Given the description of an element on the screen output the (x, y) to click on. 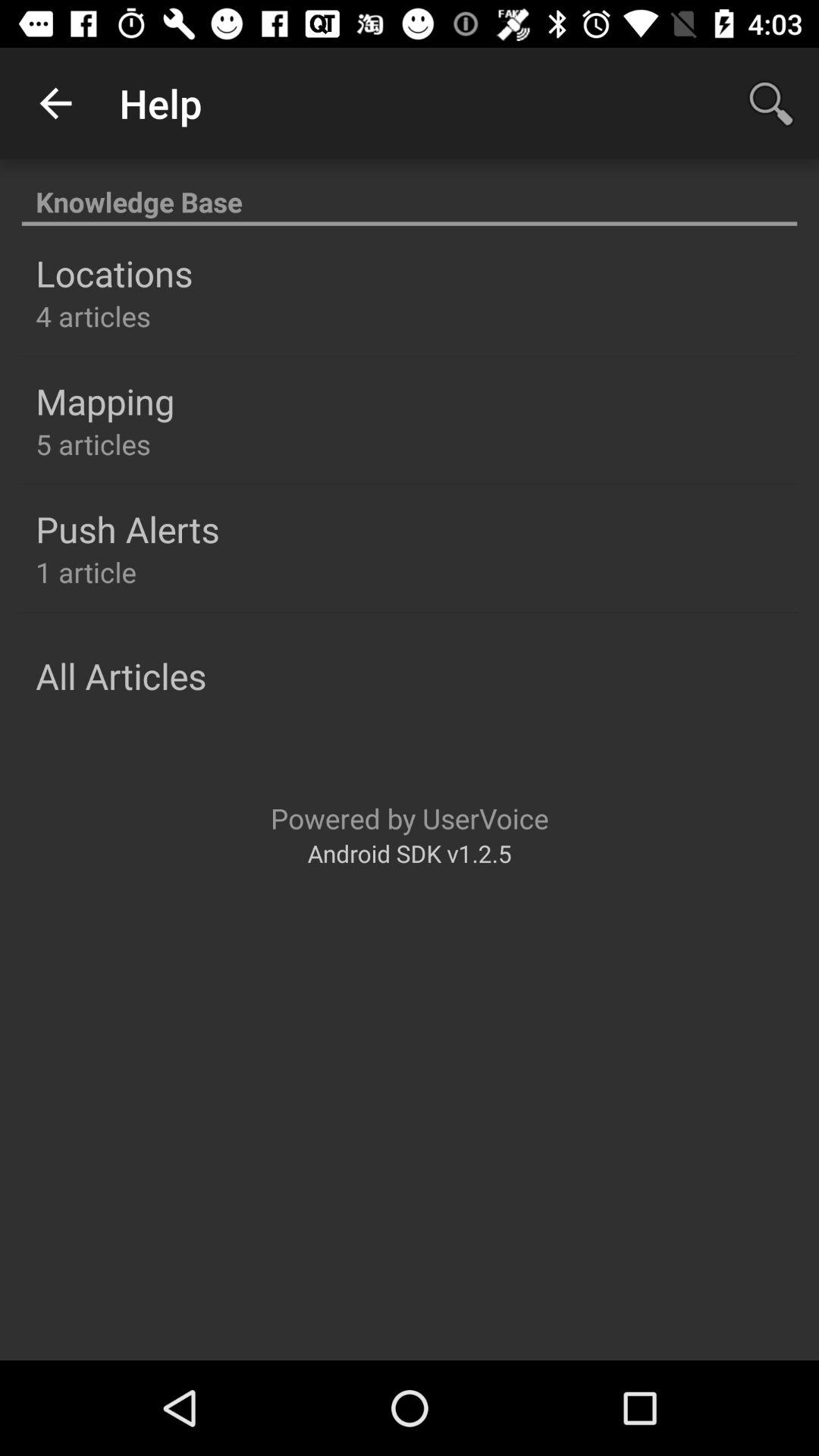
flip to the locations icon (113, 273)
